Given the description of an element on the screen output the (x, y) to click on. 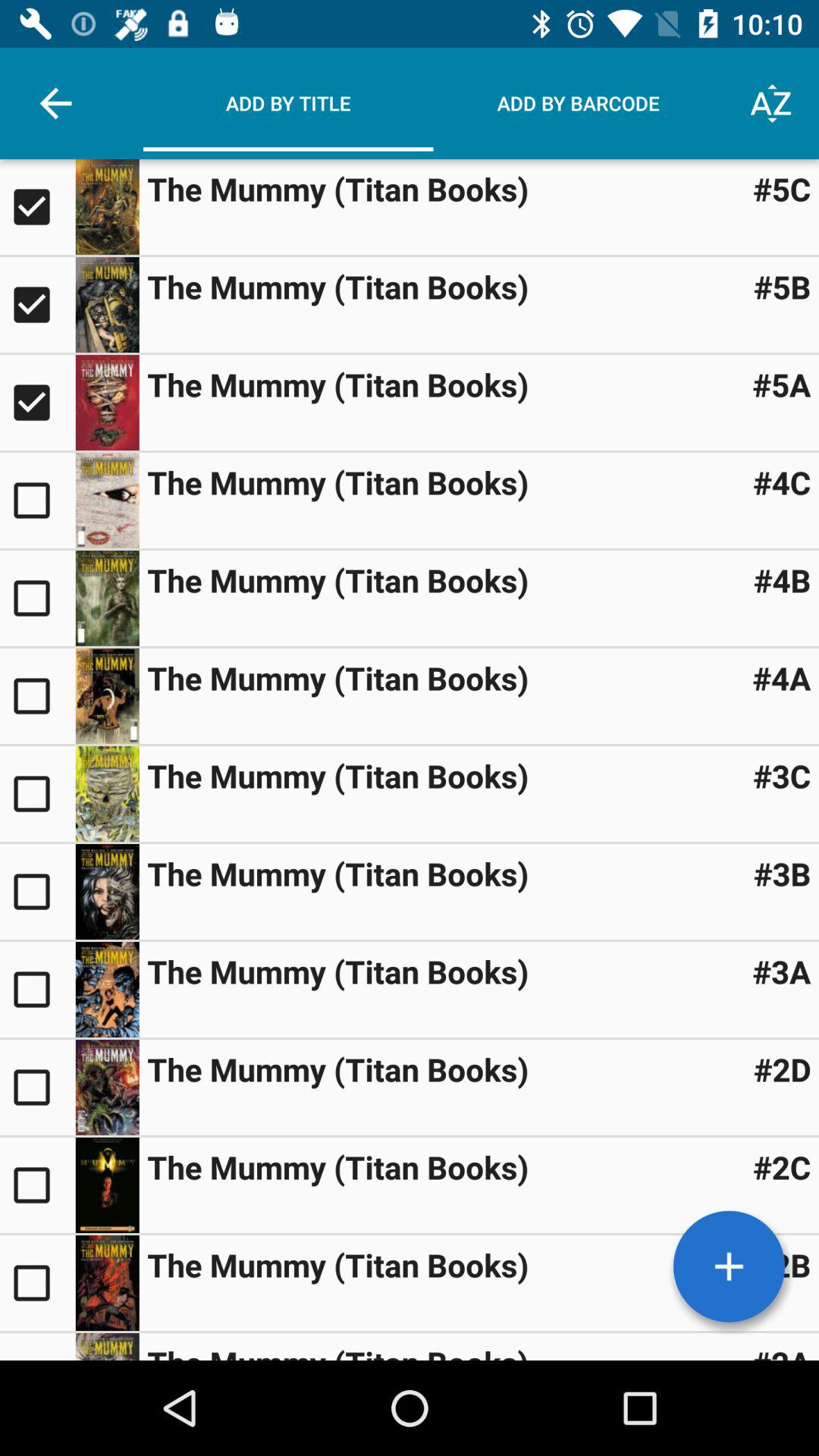
go to book information (107, 891)
